Given the description of an element on the screen output the (x, y) to click on. 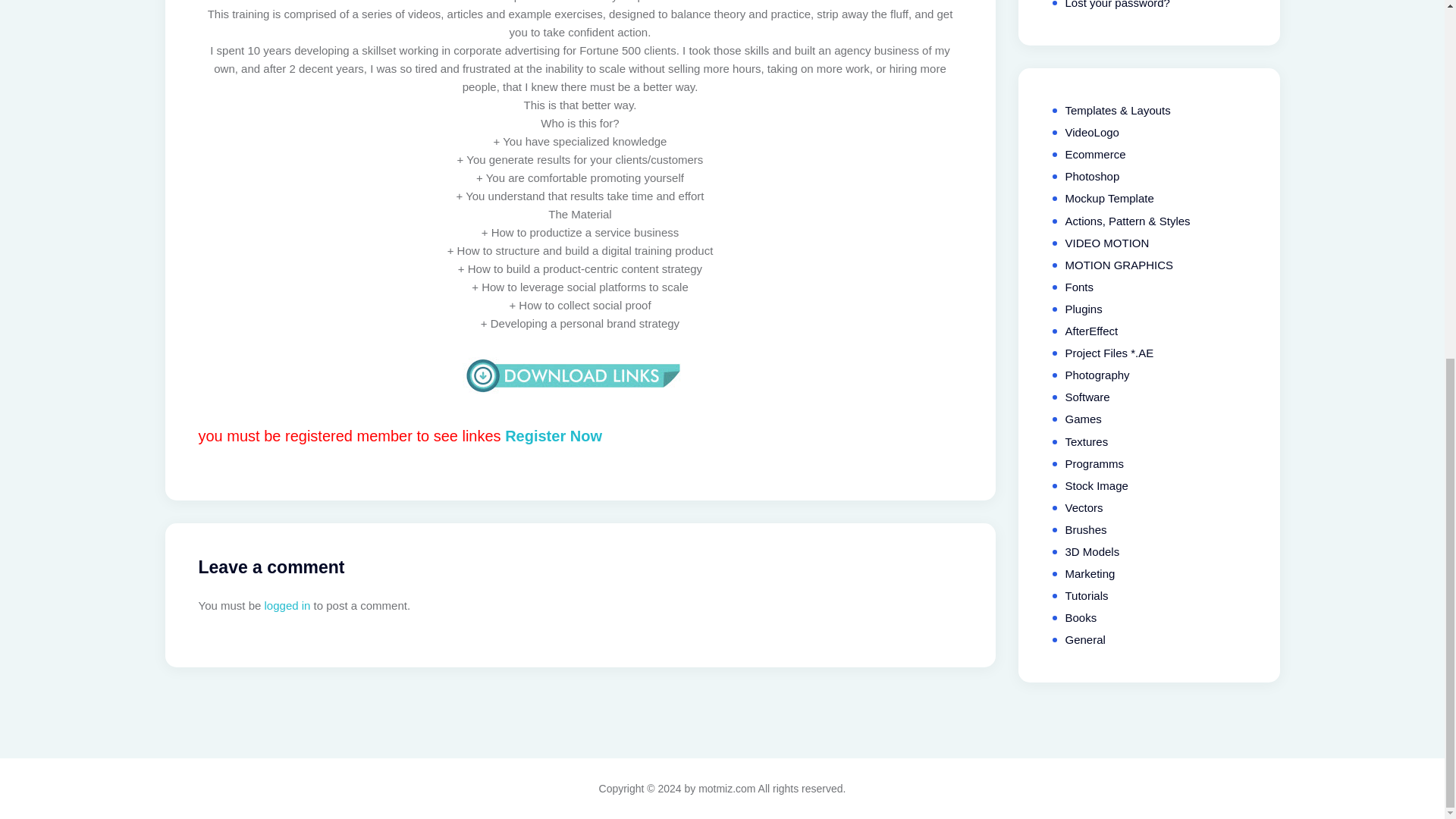
logged in (287, 604)
Lost your password? (1116, 4)
VideoLogo (1091, 132)
Register Now (553, 435)
